Given the description of an element on the screen output the (x, y) to click on. 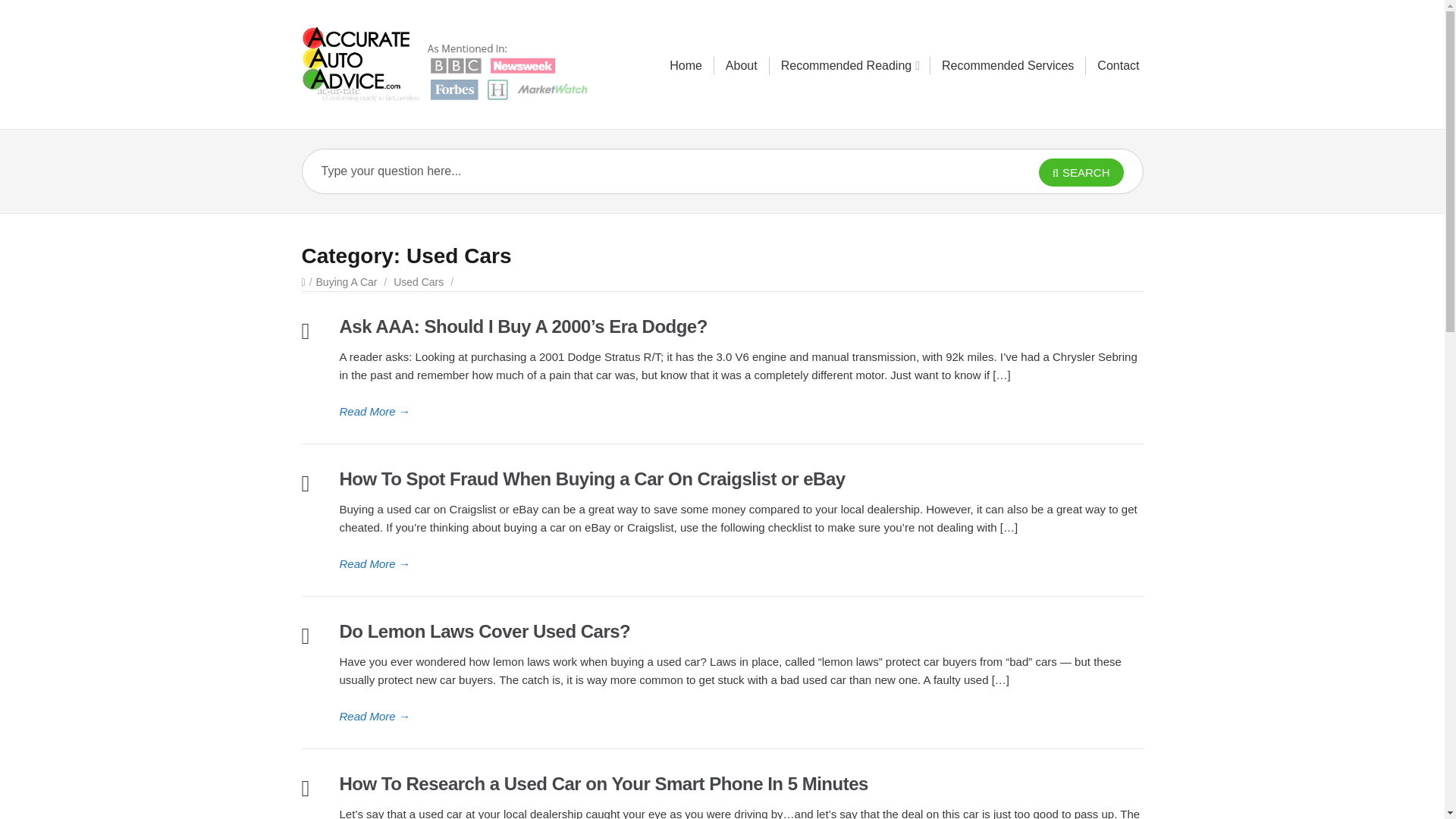
Recommended Services (1008, 65)
How To Spot Fraud When Buying a Car On Craigslist or eBay (740, 564)
Buying A Car (346, 282)
How To Spot Fraud When Buying a Car On Craigslist or eBay (592, 478)
Home (685, 65)
Do Lemon Laws Cover Used Cars? (740, 716)
Accurate Auto Advice (453, 64)
SEARCH (1081, 172)
How To Research a Used Car on Your Smart Phone In 5 Minutes (603, 783)
Recommended Reading (849, 65)
About (741, 65)
Type your question here... (637, 171)
Do Lemon Laws Cover Used Cars? (484, 630)
Used Cars (418, 282)
Contact (1117, 65)
